Given the description of an element on the screen output the (x, y) to click on. 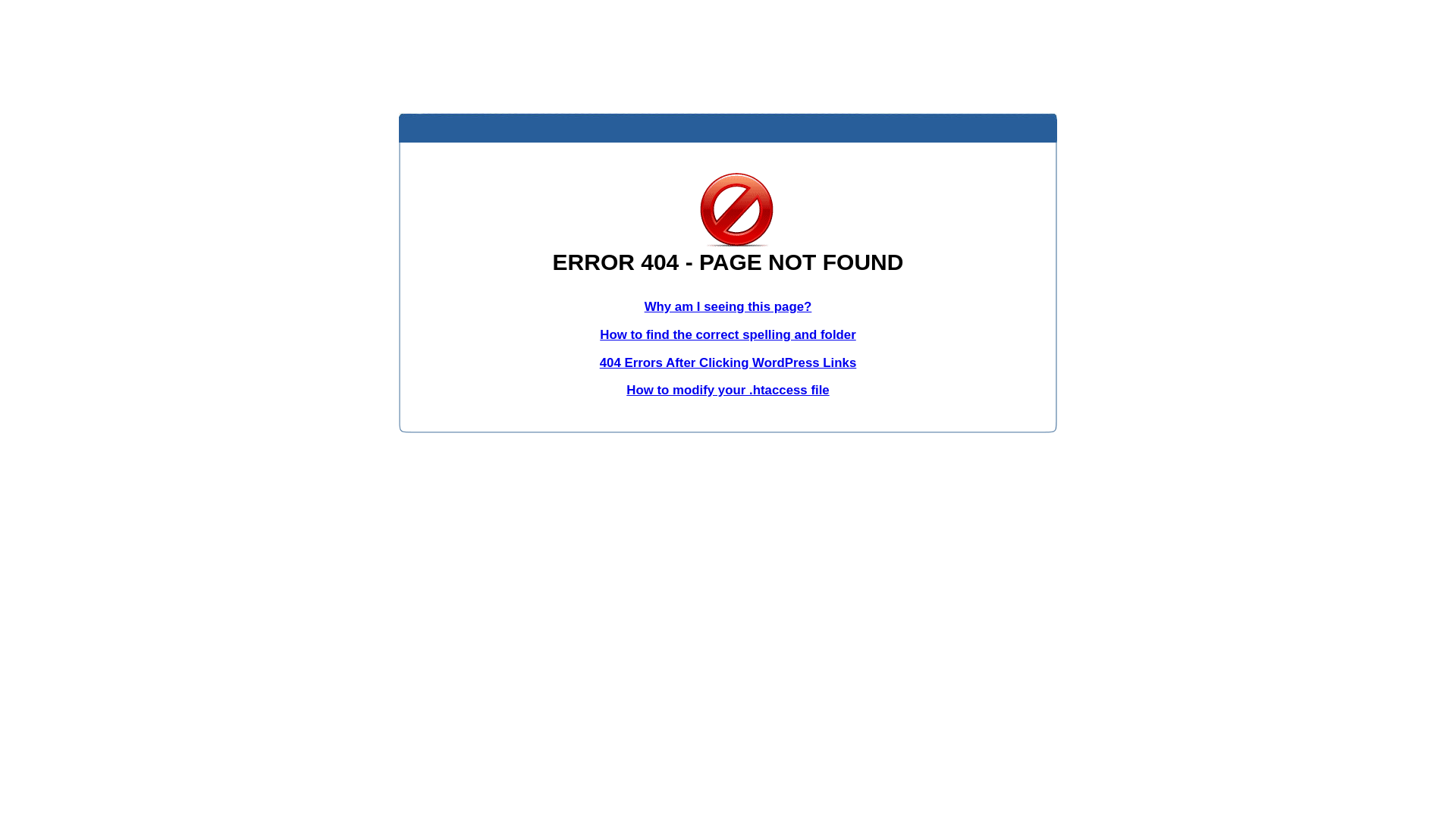
How to find the correct spelling and folder Element type: text (727, 334)
404 Errors After Clicking WordPress Links Element type: text (727, 362)
Why am I seeing this page? Element type: text (728, 306)
How to modify your .htaccess file Element type: text (727, 389)
